Given the description of an element on the screen output the (x, y) to click on. 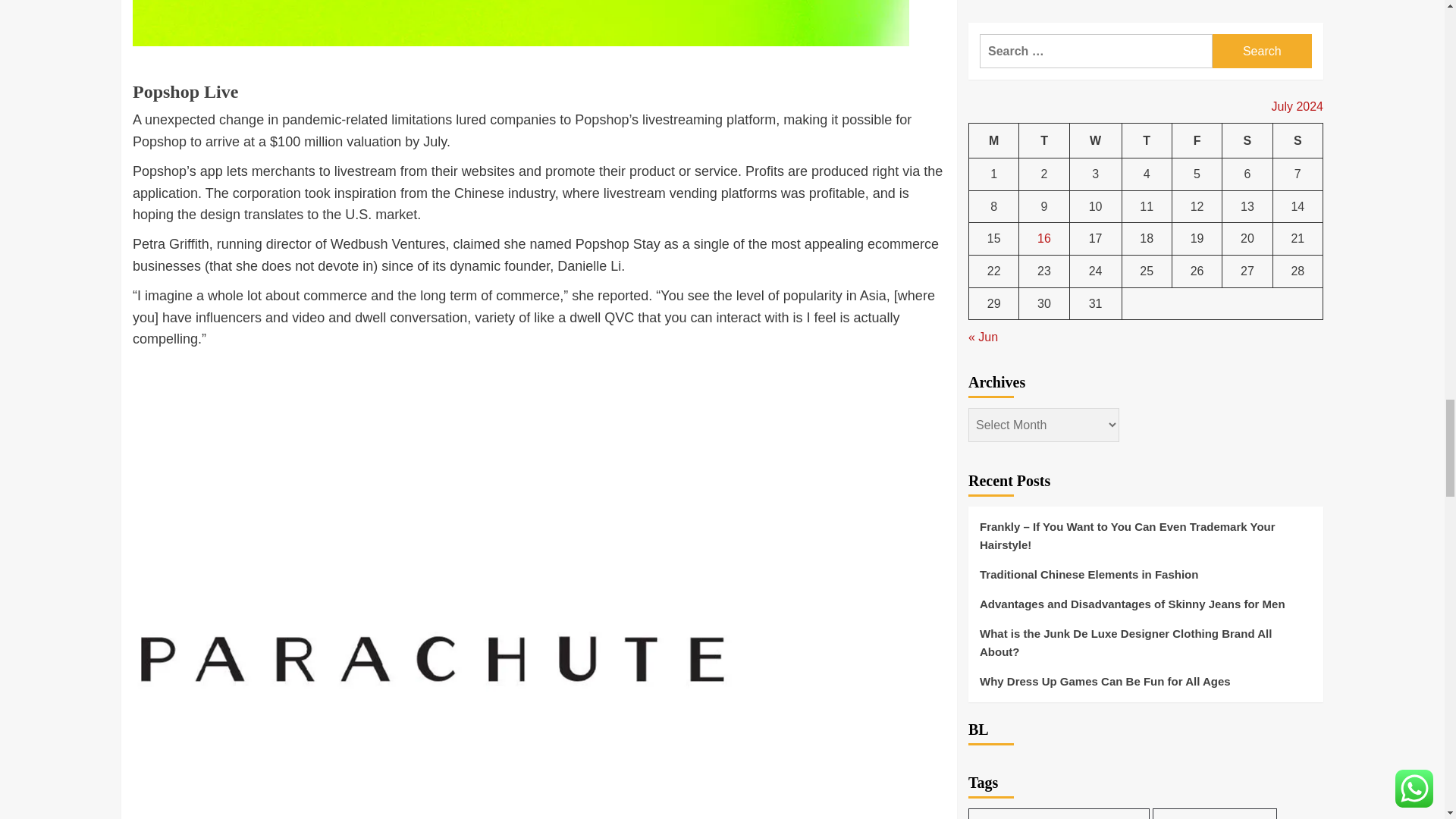
Popshop Live (185, 101)
